Given the description of an element on the screen output the (x, y) to click on. 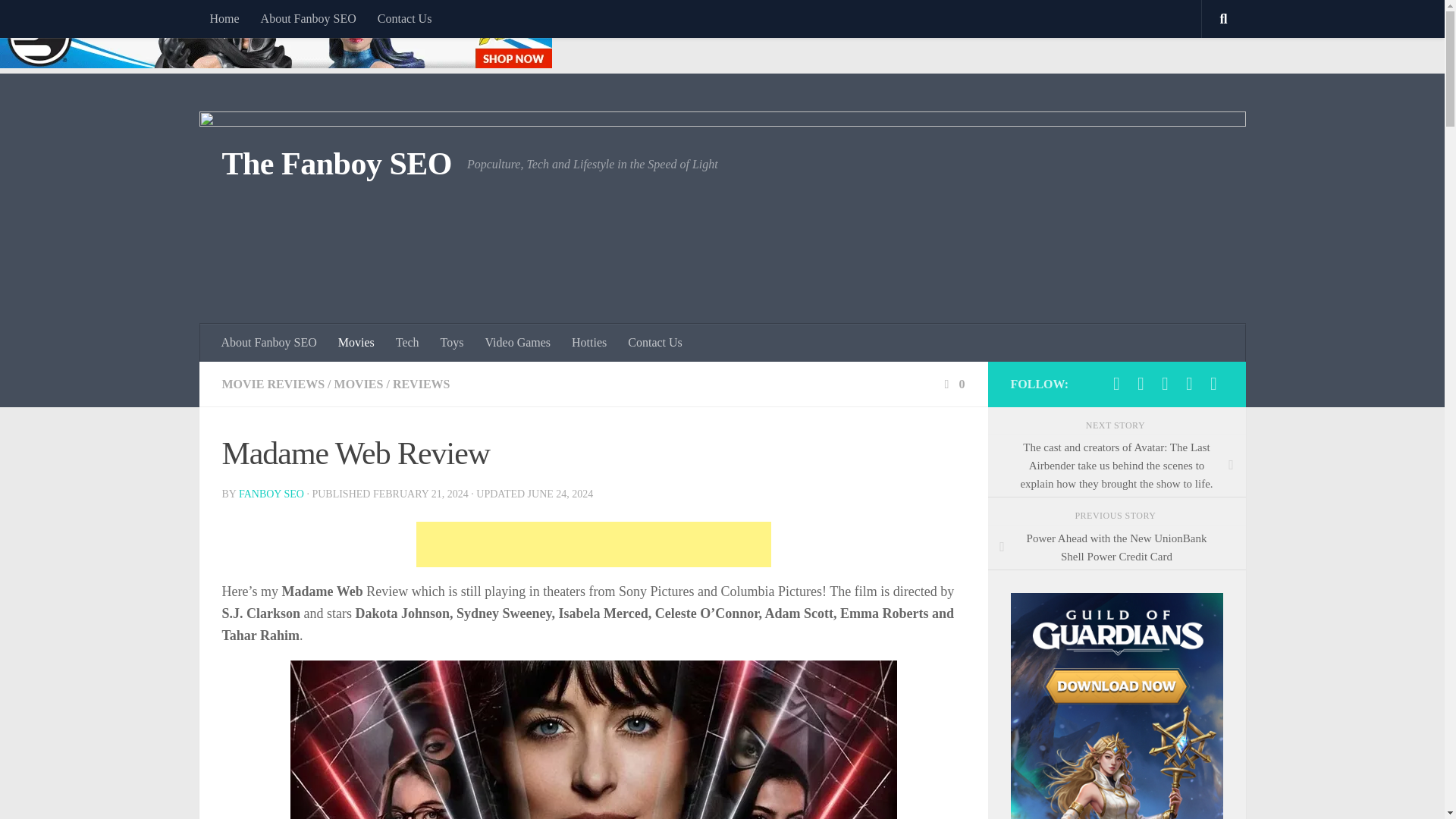
MOVIES (359, 383)
FANBOY SEO (271, 493)
The Fanboy SEO (336, 164)
MOVIE REVIEWS (272, 383)
REVIEWS (421, 383)
Hotties (588, 342)
Video Games (517, 342)
Advertisement (592, 544)
Skip to content (59, 20)
Toys (451, 342)
About Fanboy SEO (269, 342)
About Fanboy SEO (308, 18)
Movies (356, 342)
Posts by Fanboy SEO (271, 493)
Home (223, 18)
